Given the description of an element on the screen output the (x, y) to click on. 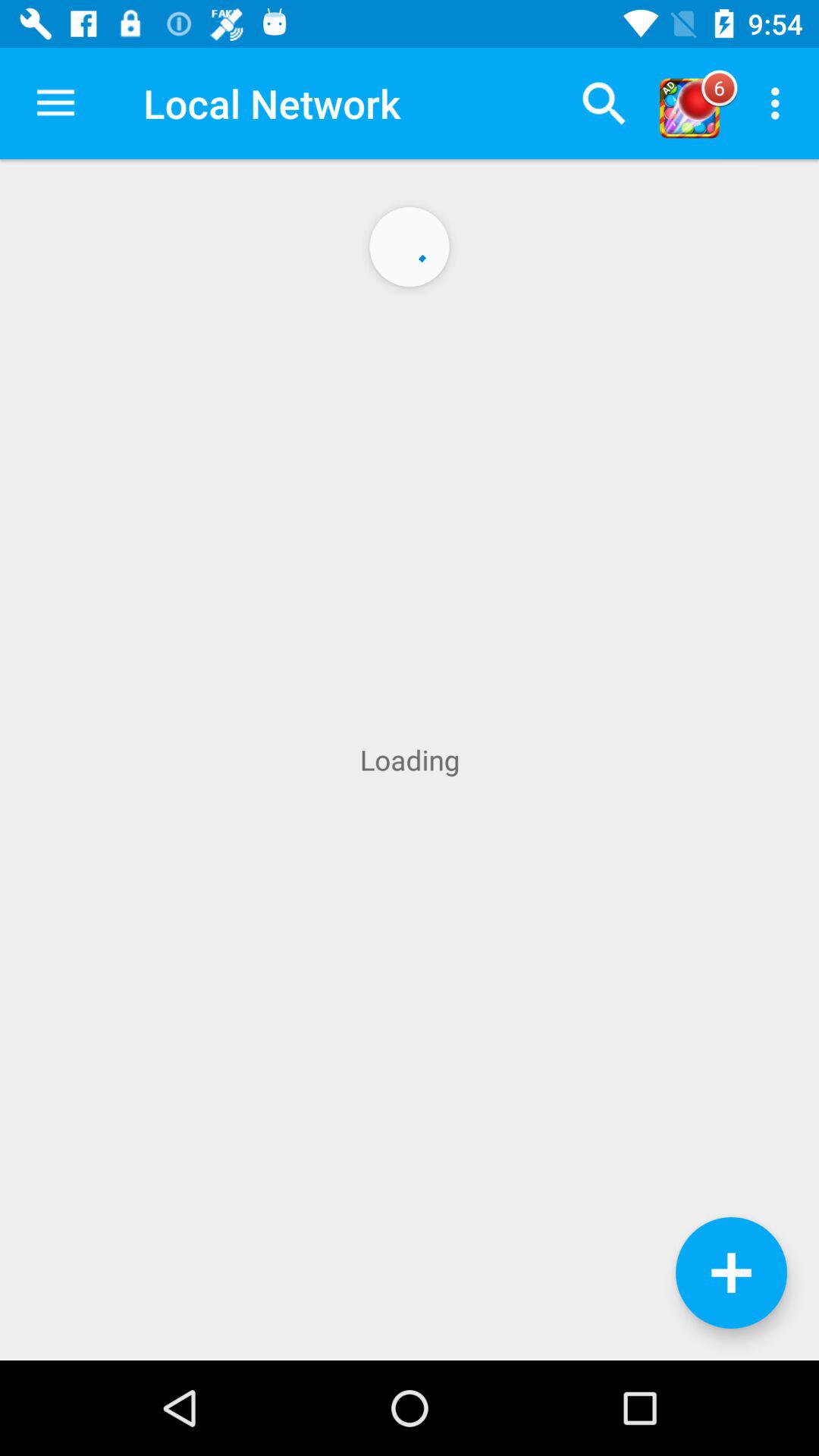
add symbol (731, 1272)
